Given the description of an element on the screen output the (x, y) to click on. 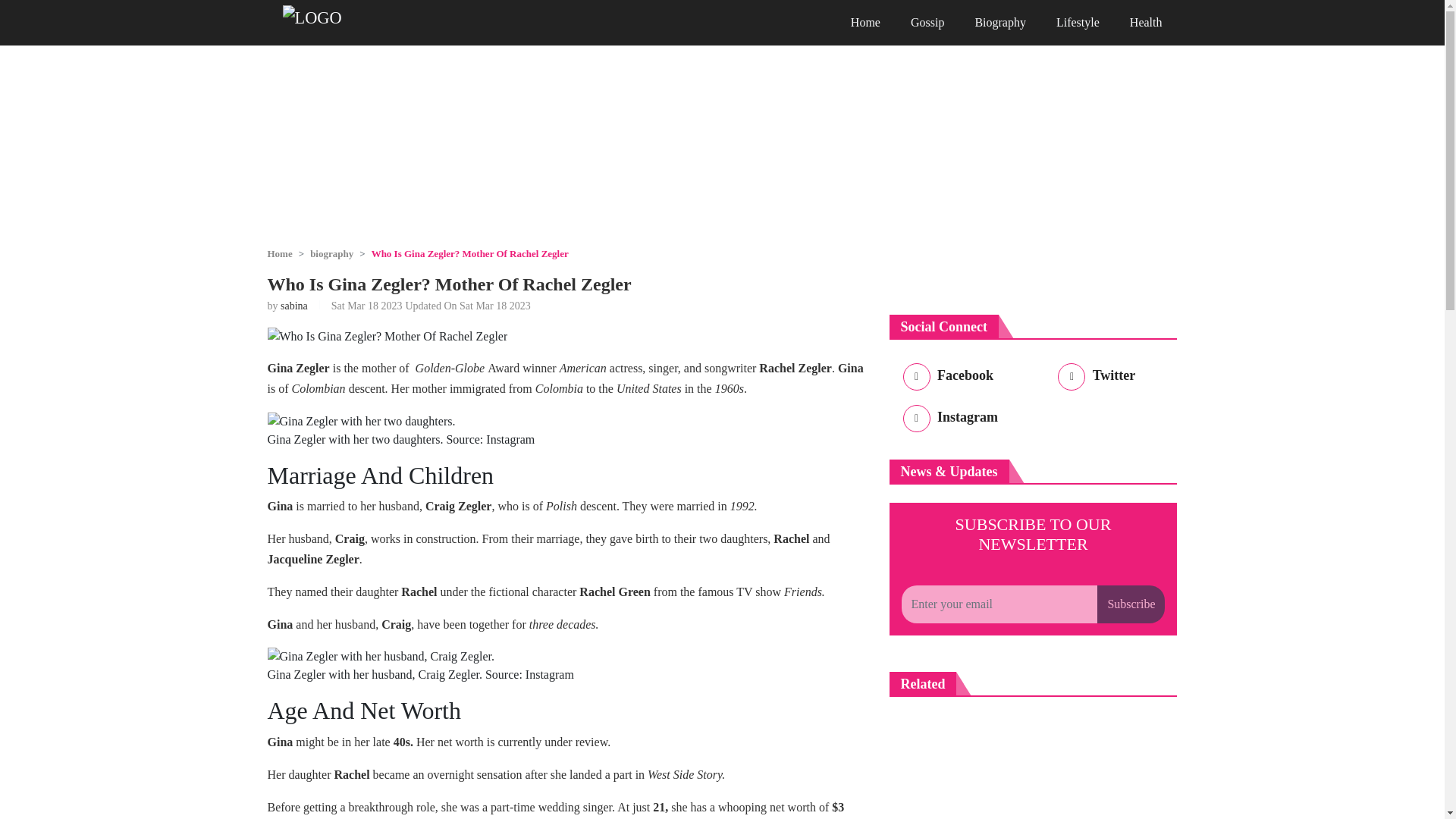
Gossip (927, 22)
Instagram (947, 420)
Subscribe (1130, 604)
Home (279, 253)
Biography (1000, 22)
Health (1146, 22)
Lifestyle (1078, 22)
sabina (294, 306)
biography (331, 253)
Facebook (945, 378)
